Given the description of an element on the screen output the (x, y) to click on. 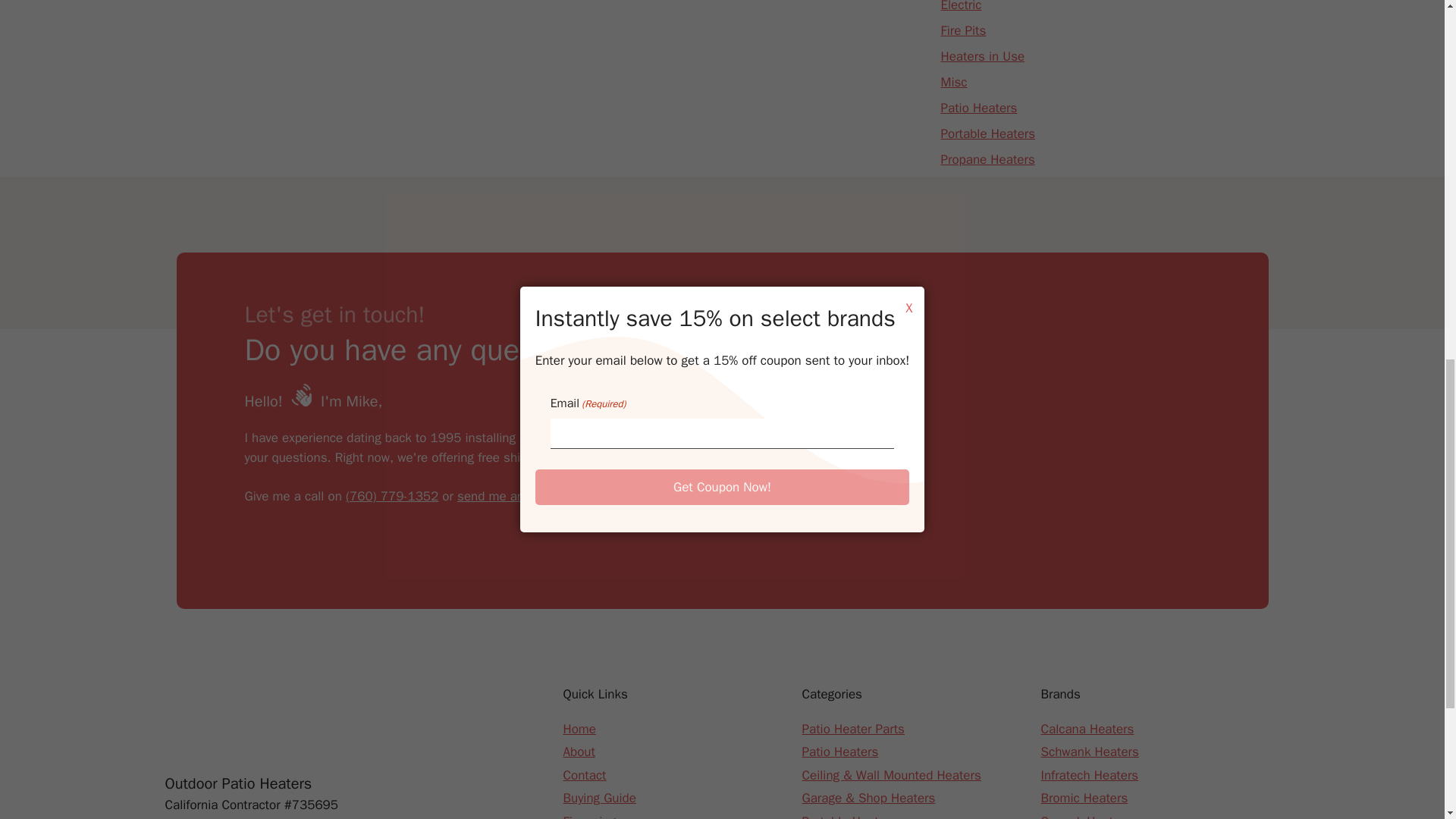
logo-edited-2023 (241, 720)
MikePhoto (1096, 430)
